Given the description of an element on the screen output the (x, y) to click on. 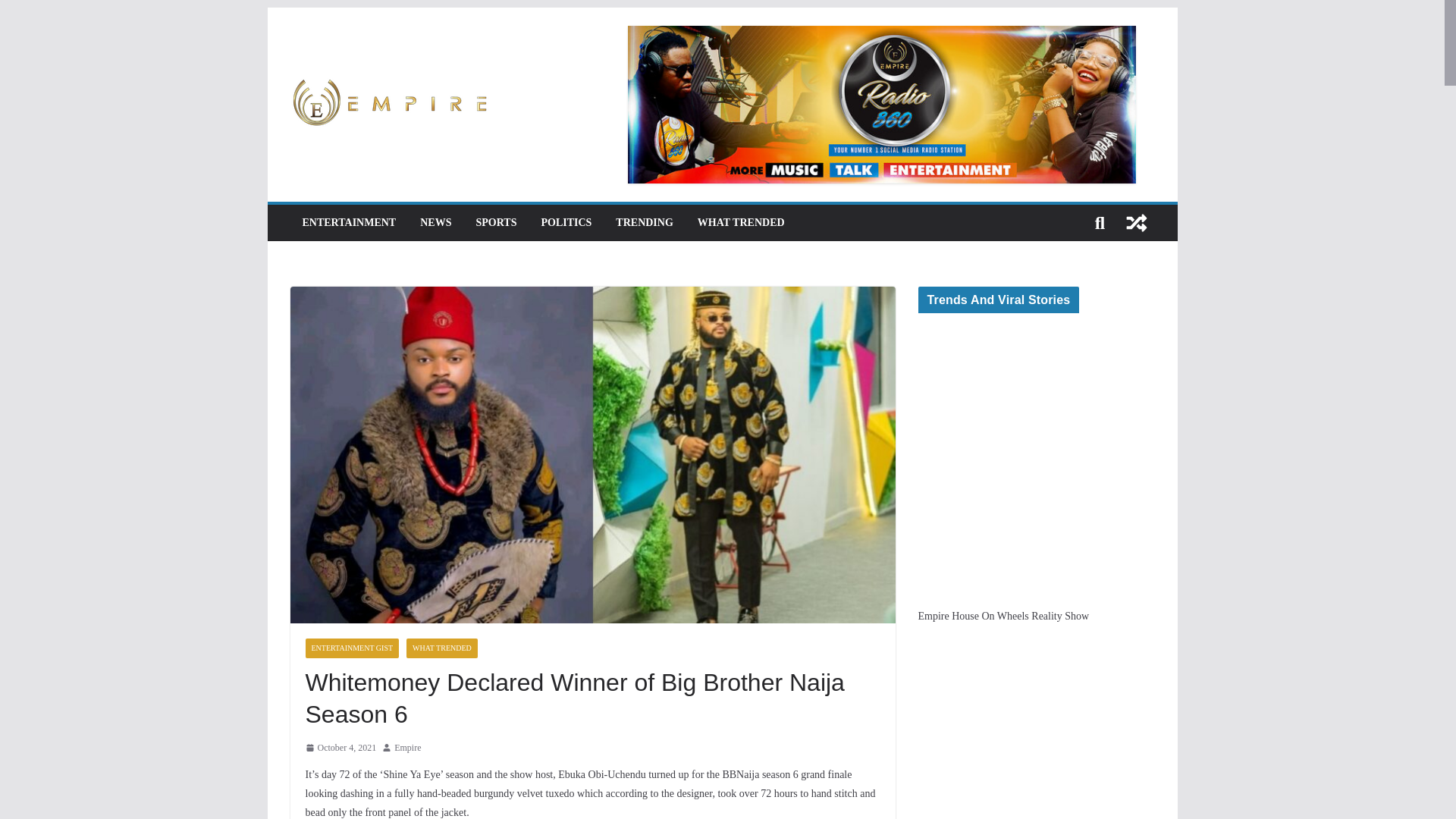
WHAT TRENDED (441, 648)
ENTERTAINMENT (348, 222)
October 4, 2021 (339, 748)
View a random post (1136, 222)
WHAT TRENDED (740, 222)
10:36 am (339, 748)
SPORTS (496, 222)
Empire (407, 748)
TRENDING (643, 222)
POLITICS (565, 222)
ENTERTAINMENT GIST (351, 648)
Empire (407, 748)
NEWS (435, 222)
